Given the description of an element on the screen output the (x, y) to click on. 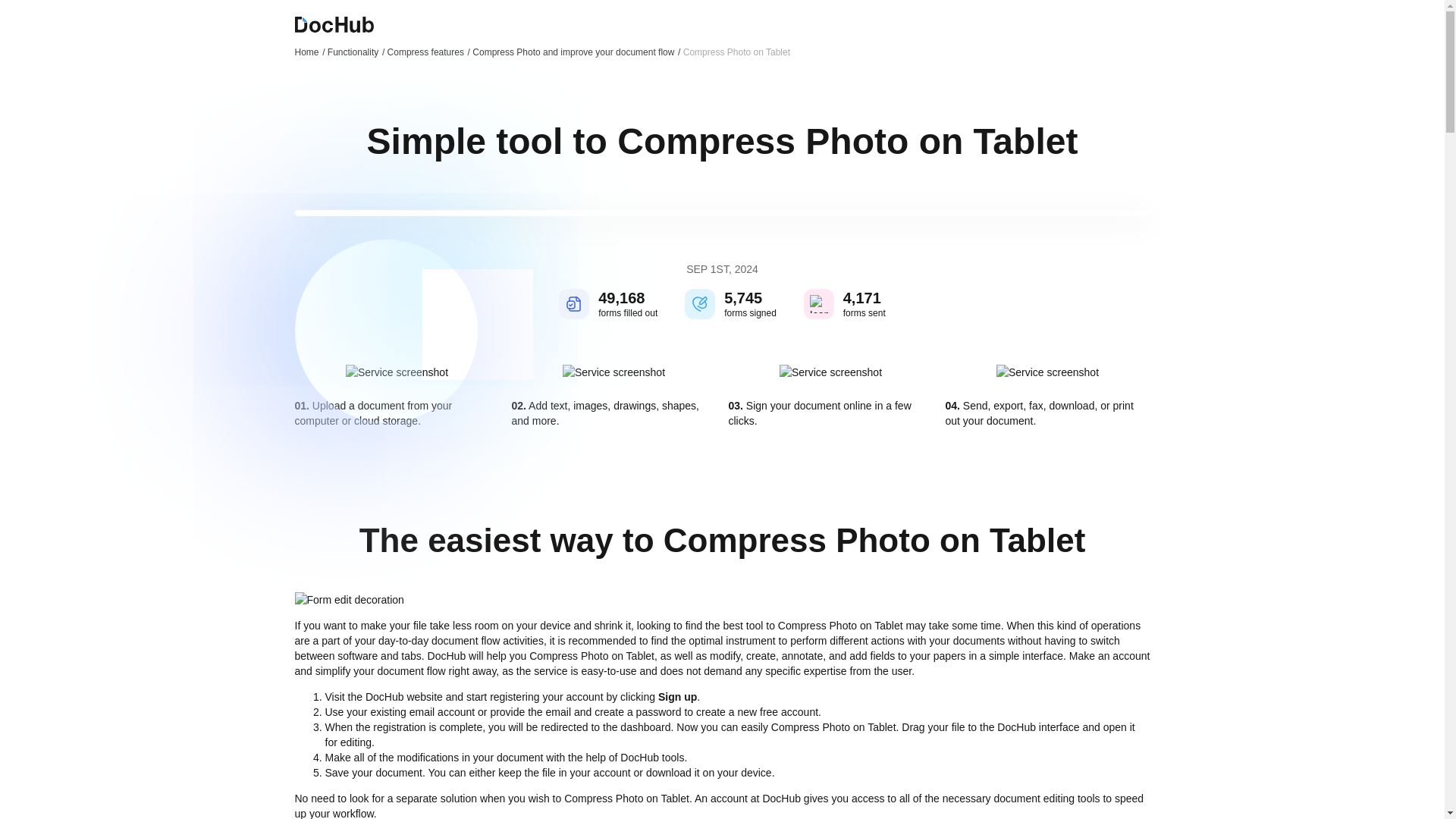
Compress Photo and improve your document flow (575, 51)
Compress features (428, 51)
Home (309, 51)
Functionality (355, 51)
